Given the description of an element on the screen output the (x, y) to click on. 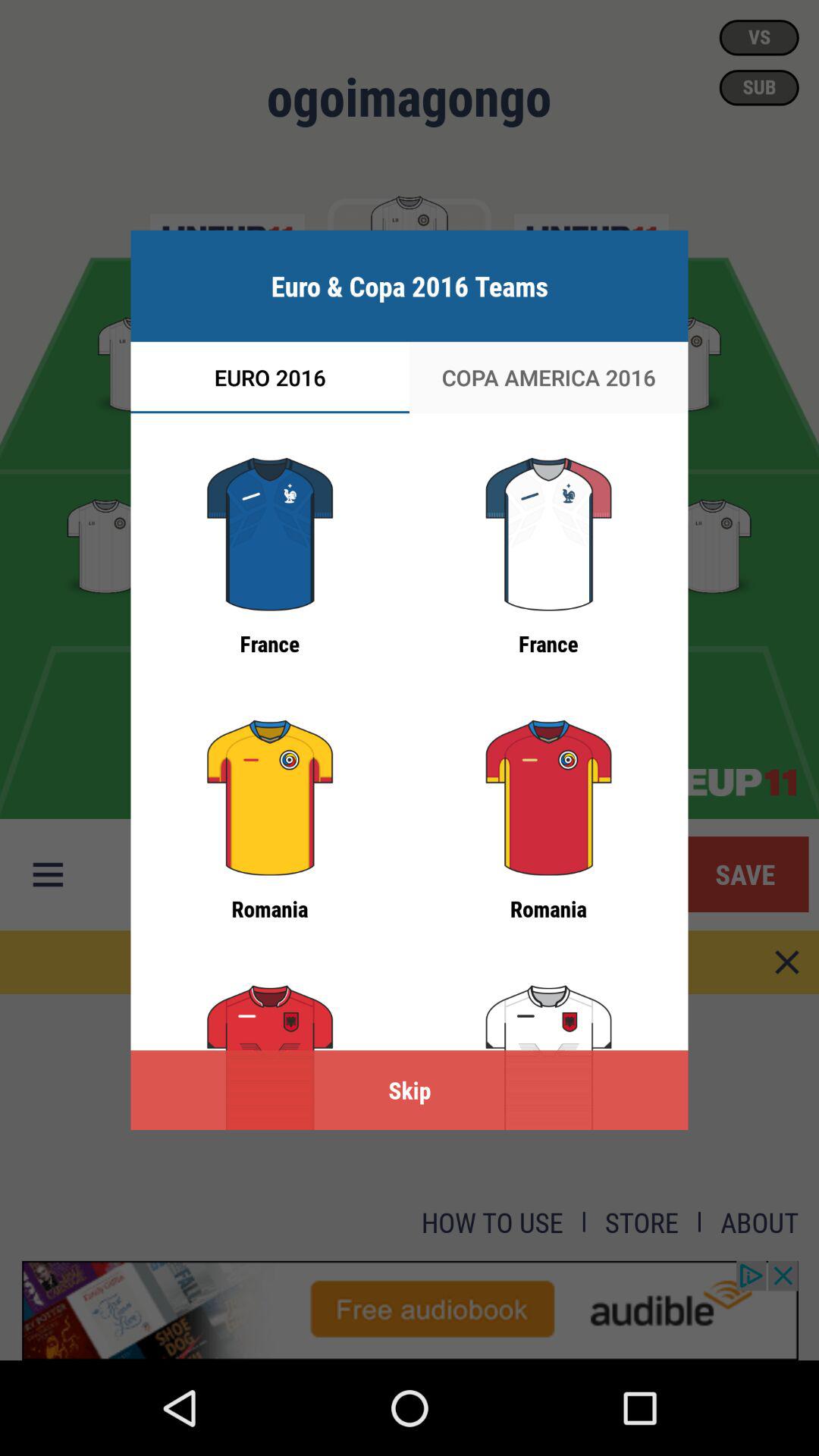
flip to the skip item (409, 1090)
